Given the description of an element on the screen output the (x, y) to click on. 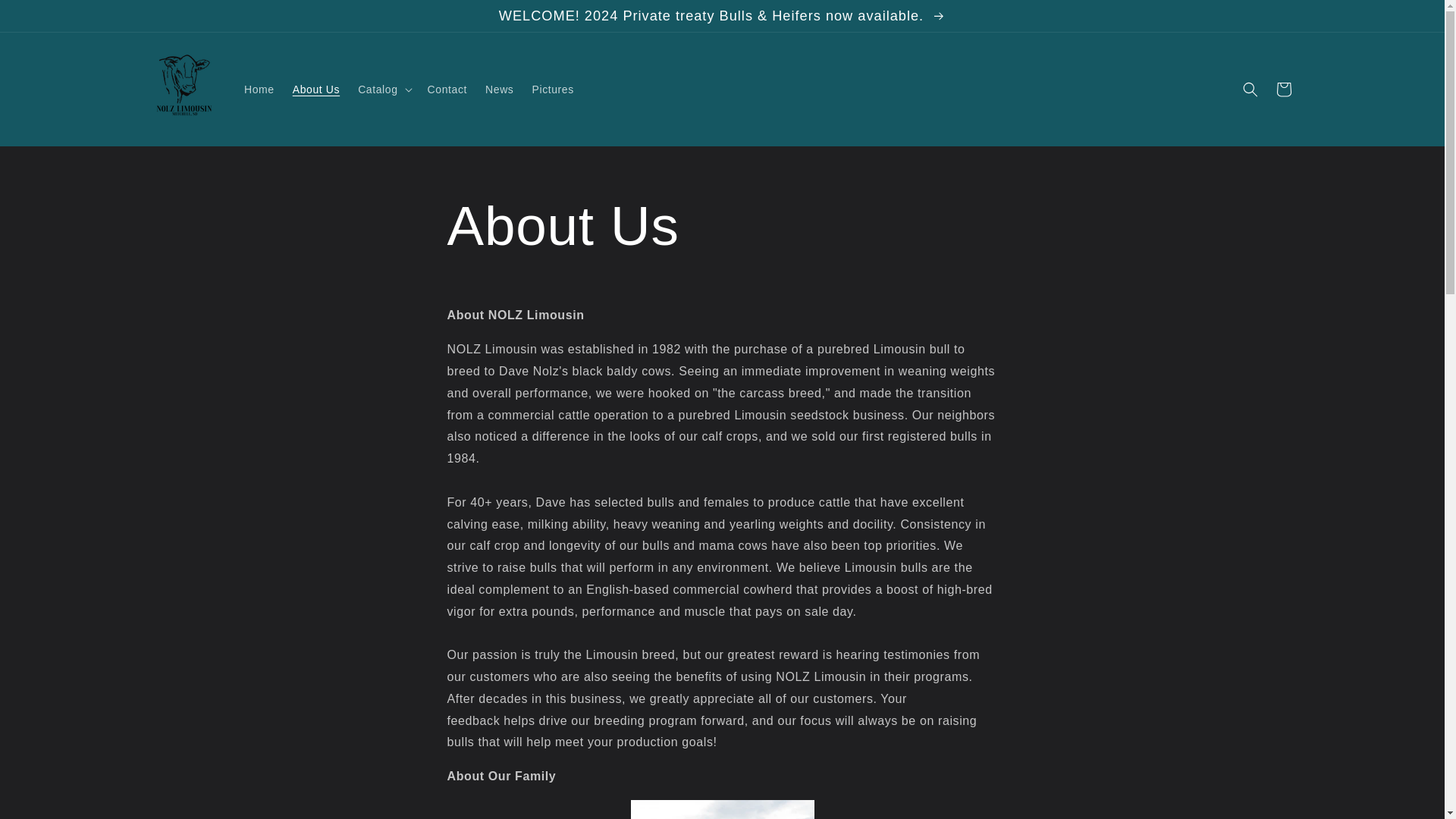
Skip to content (45, 17)
Contact (447, 89)
About Us (316, 89)
Home (258, 89)
News (499, 89)
Pictures (552, 89)
Cart (1283, 89)
